Given the description of an element on the screen output the (x, y) to click on. 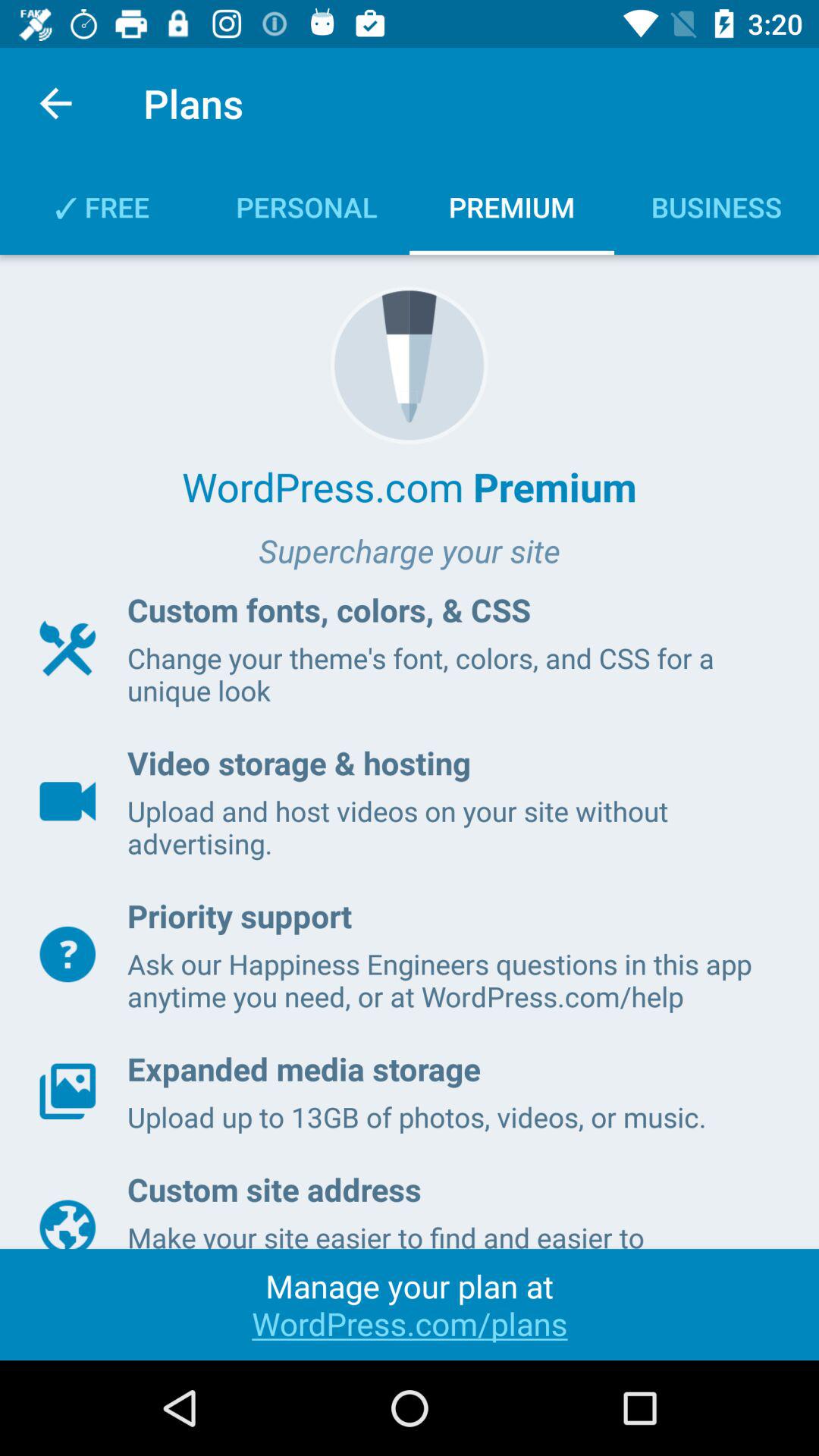
select the text premium (511, 206)
select the  button (67, 953)
